Given the description of an element on the screen output the (x, y) to click on. 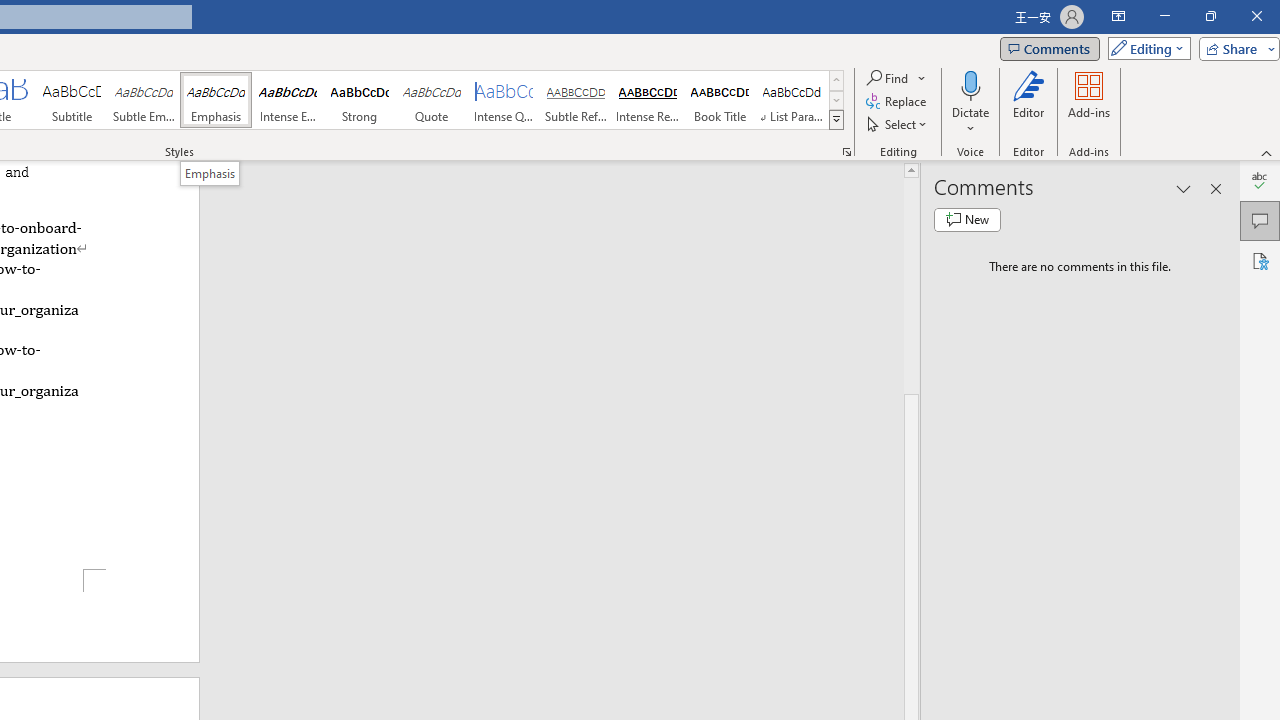
Quote (431, 100)
Intense Emphasis (287, 100)
Subtle Reference (575, 100)
Accessibility (1260, 260)
Intense Reference (647, 100)
